Given the description of an element on the screen output the (x, y) to click on. 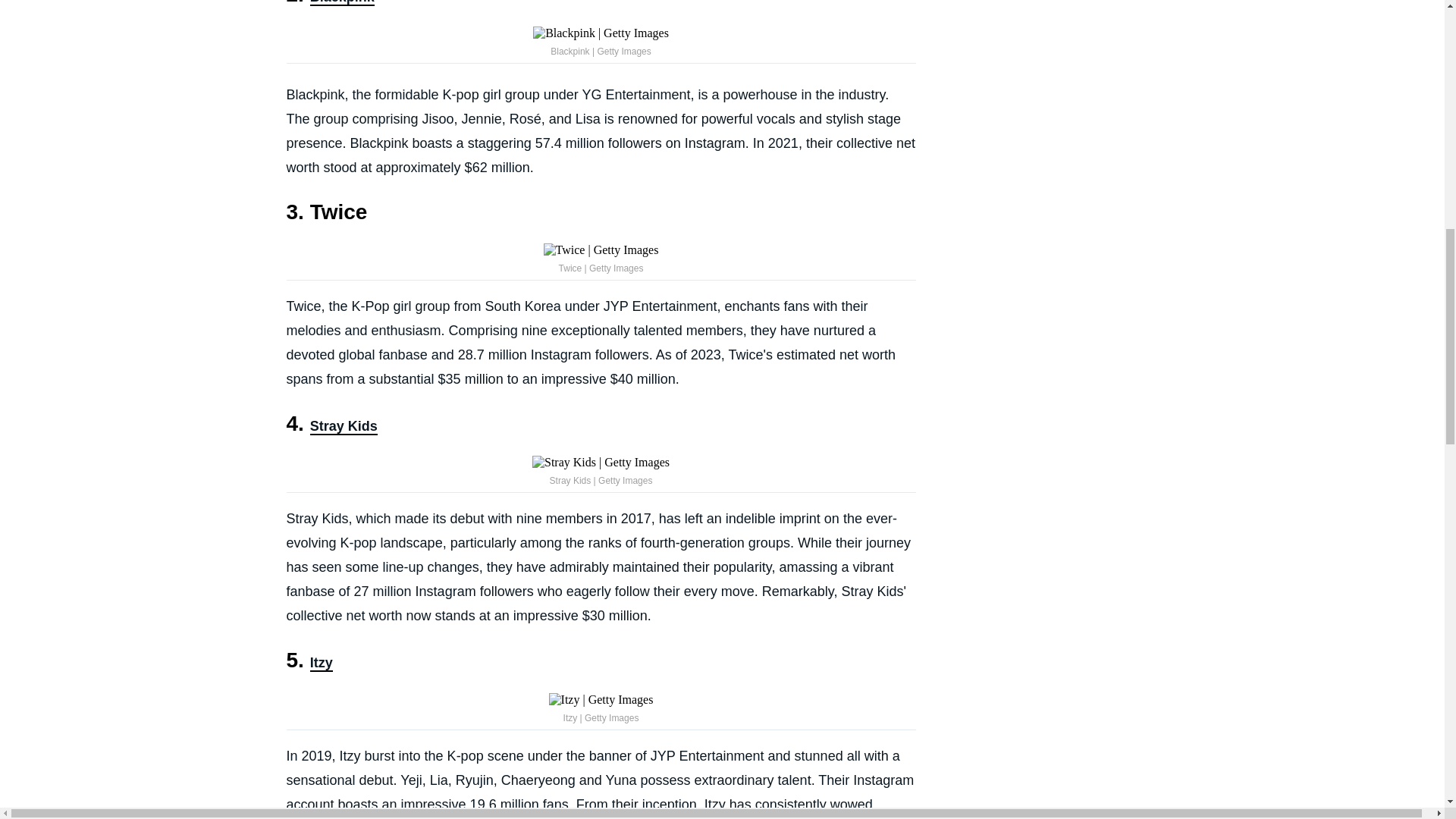
Itzy (321, 663)
Blackpink (342, 2)
Stray Kids (343, 426)
